Given the description of an element on the screen output the (x, y) to click on. 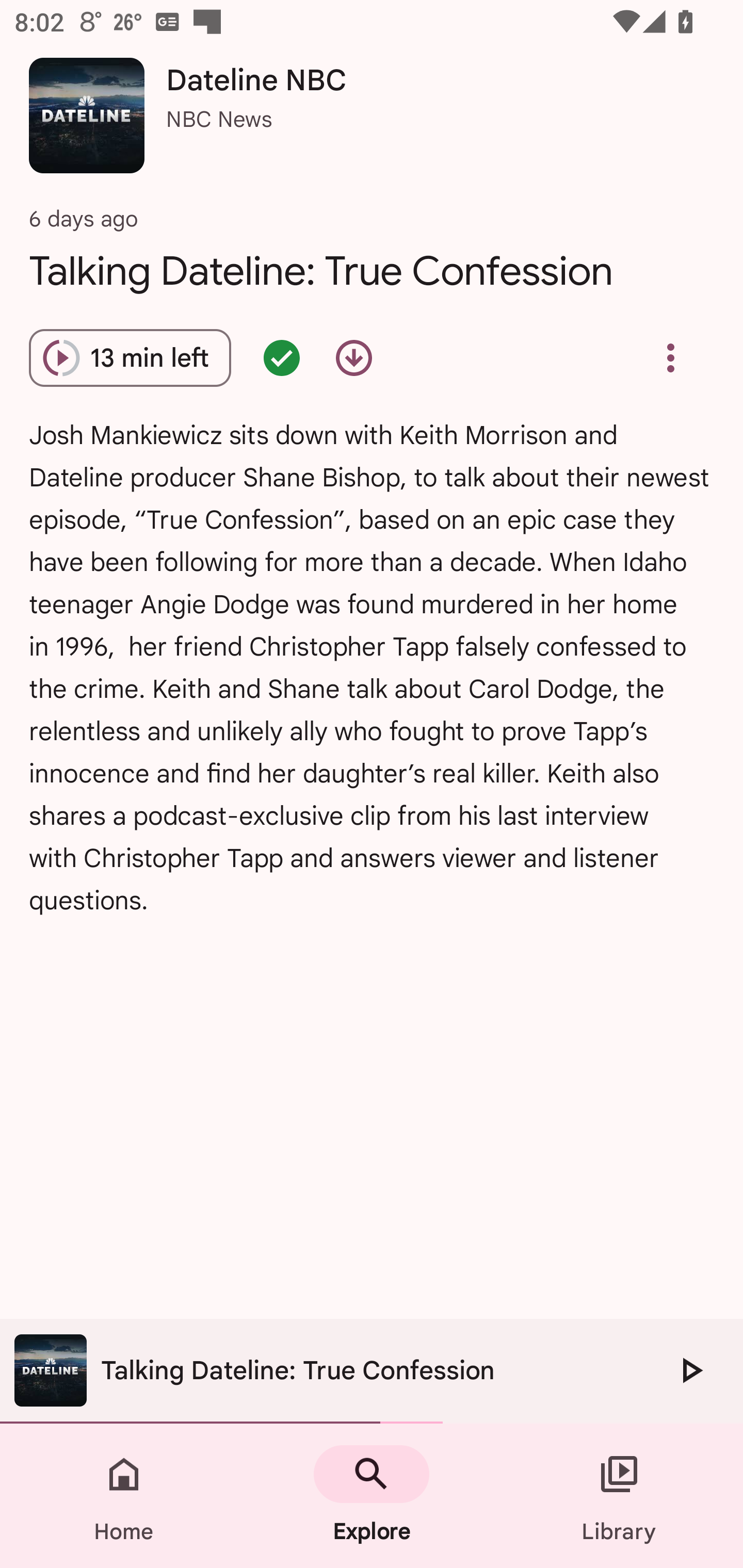
Dateline NBC Dateline NBC NBC News (371, 122)
Episode queued - double tap for options (281, 358)
Download episode (354, 358)
Overflow menu (670, 358)
Play (690, 1370)
Home (123, 1495)
Library (619, 1495)
